Given the description of an element on the screen output the (x, y) to click on. 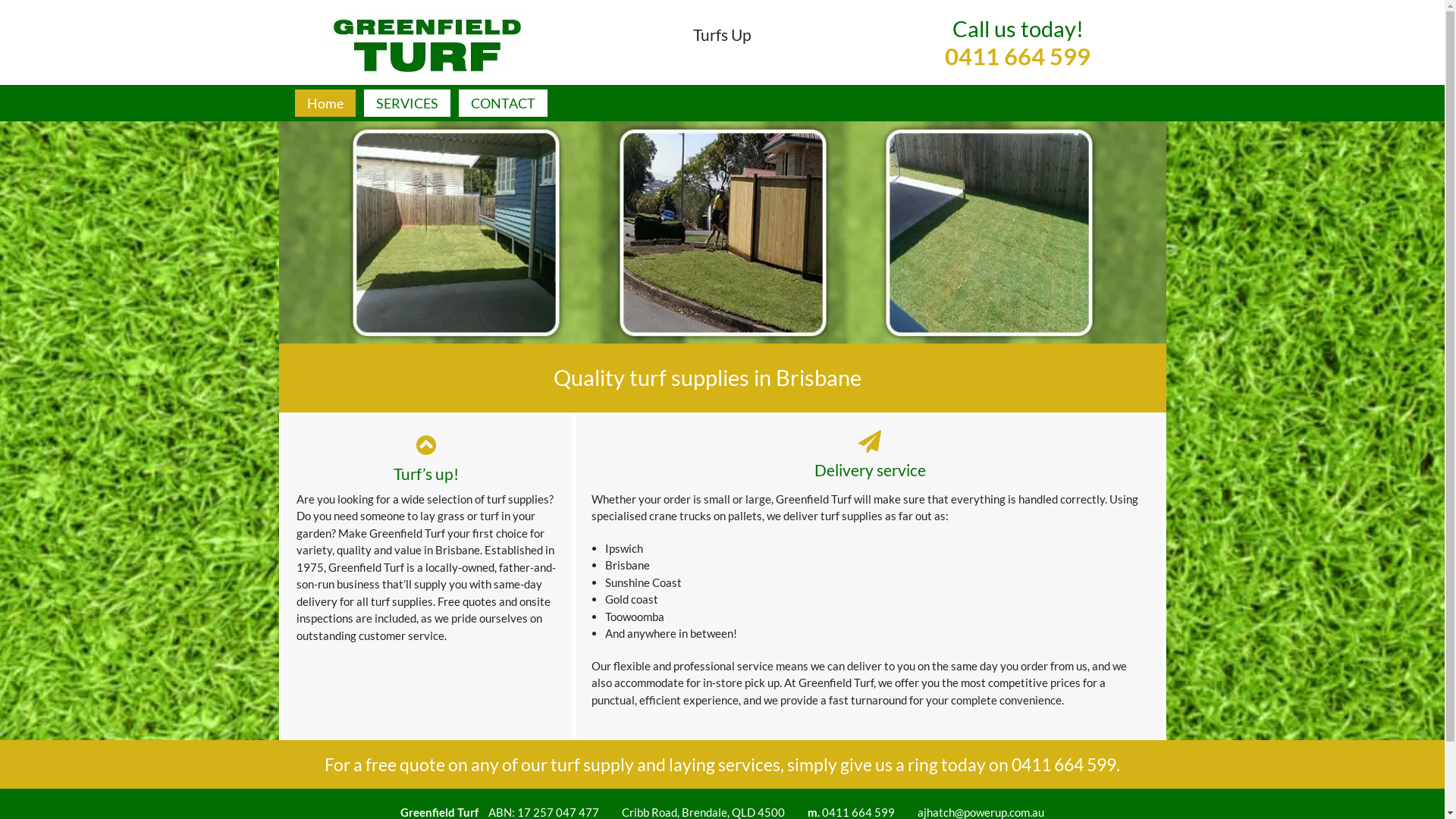
CONTACT Element type: text (502, 103)
0411 664 599 Element type: text (1063, 764)
0411 664 599 Element type: text (1017, 70)
greenfield turf on home Element type: hover (722, 232)
greenfield turf logo Element type: hover (425, 43)
Home Element type: text (324, 103)
SERVICES Element type: text (407, 103)
